Given the description of an element on the screen output the (x, y) to click on. 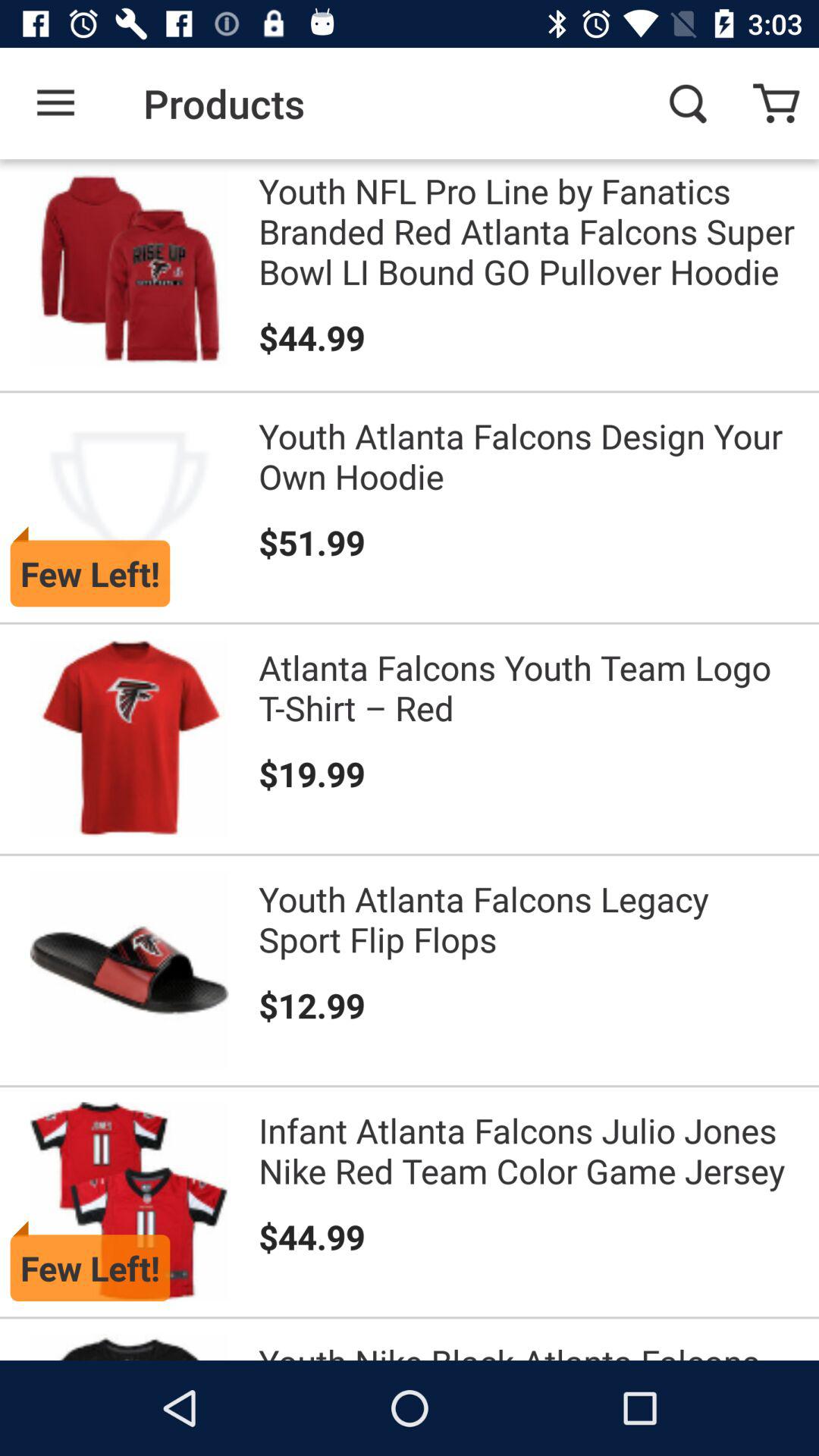
choose item next to products (55, 103)
